Given the description of an element on the screen output the (x, y) to click on. 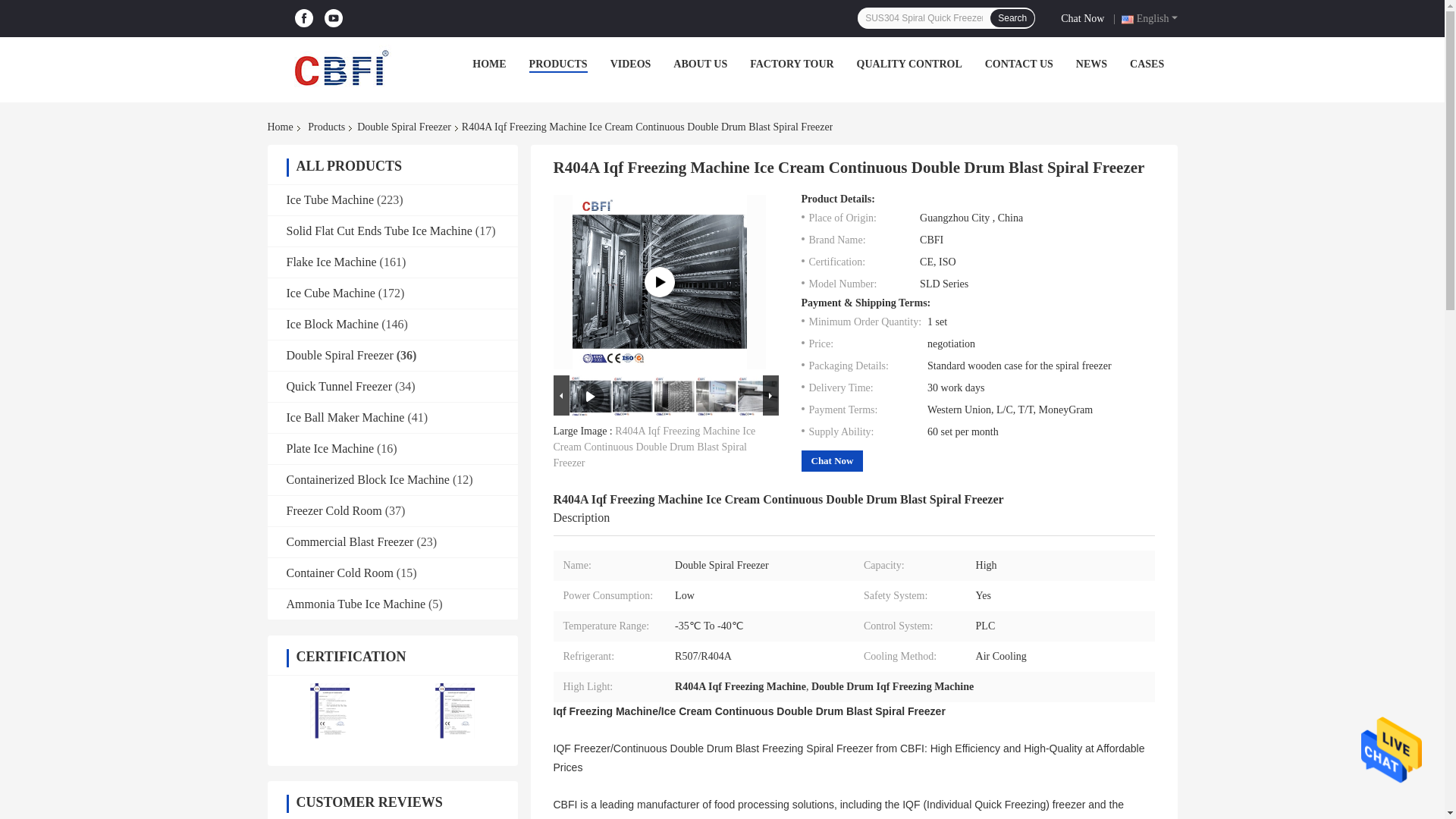
Search (1011, 18)
HOME (488, 63)
CASES (1146, 63)
ABOUT US (699, 63)
CONTACT US (1018, 63)
PRODUCTS (558, 63)
Home (282, 127)
Products (325, 127)
Chat Now (1085, 17)
Ice Tube Machine (330, 199)
FACTORY TOUR (790, 63)
VIDEOS (630, 63)
Double Spiral Freezer (403, 127)
QUALITY CONTROL (909, 63)
Guangzhou Icesource Refrigeration Equipment Co., LTD YouTube (333, 18)
